Given the description of an element on the screen output the (x, y) to click on. 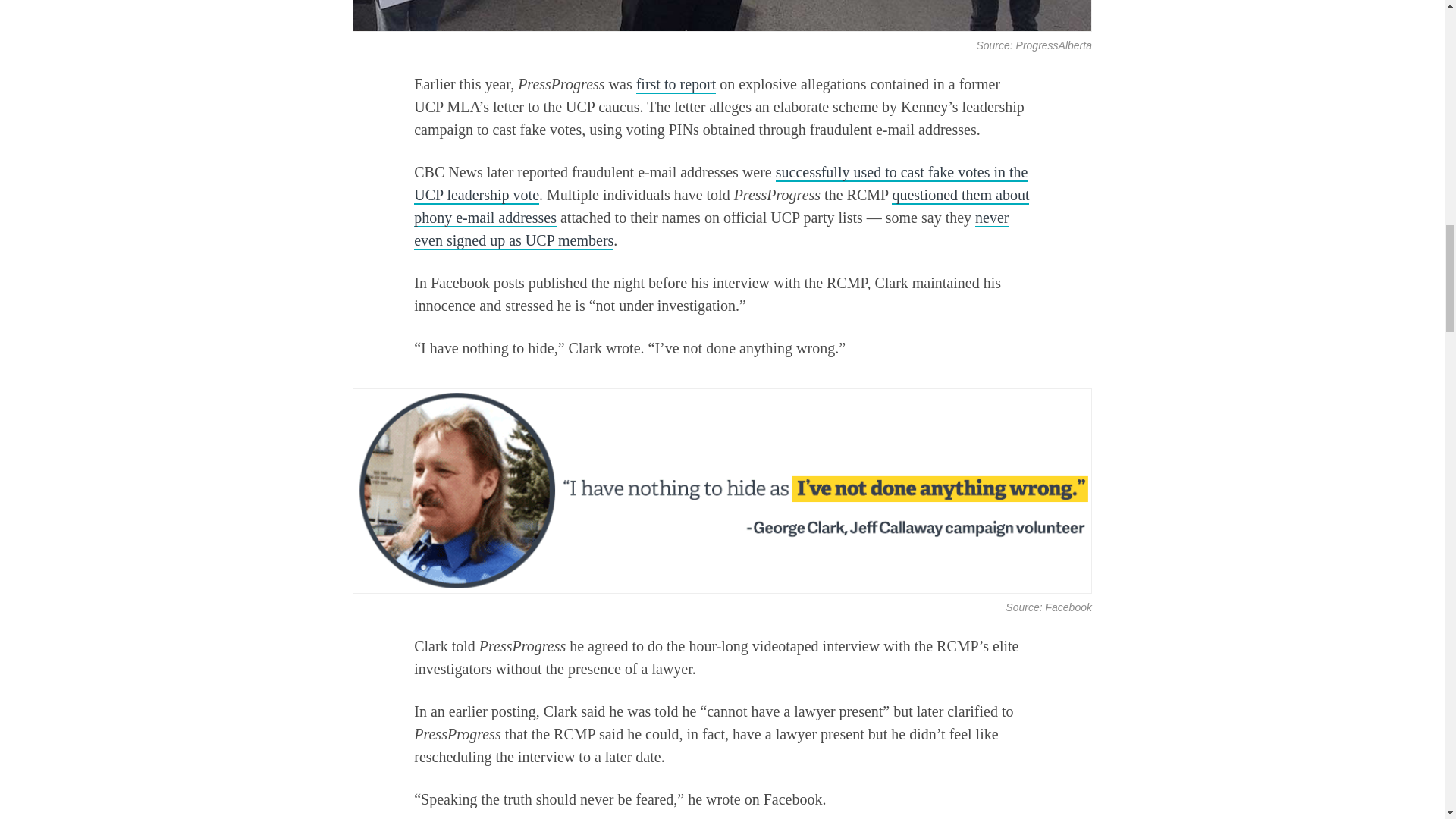
questioned them about phony e-mail addresses (721, 206)
first to report (676, 85)
never even signed up as UCP members (711, 229)
